Given the description of an element on the screen output the (x, y) to click on. 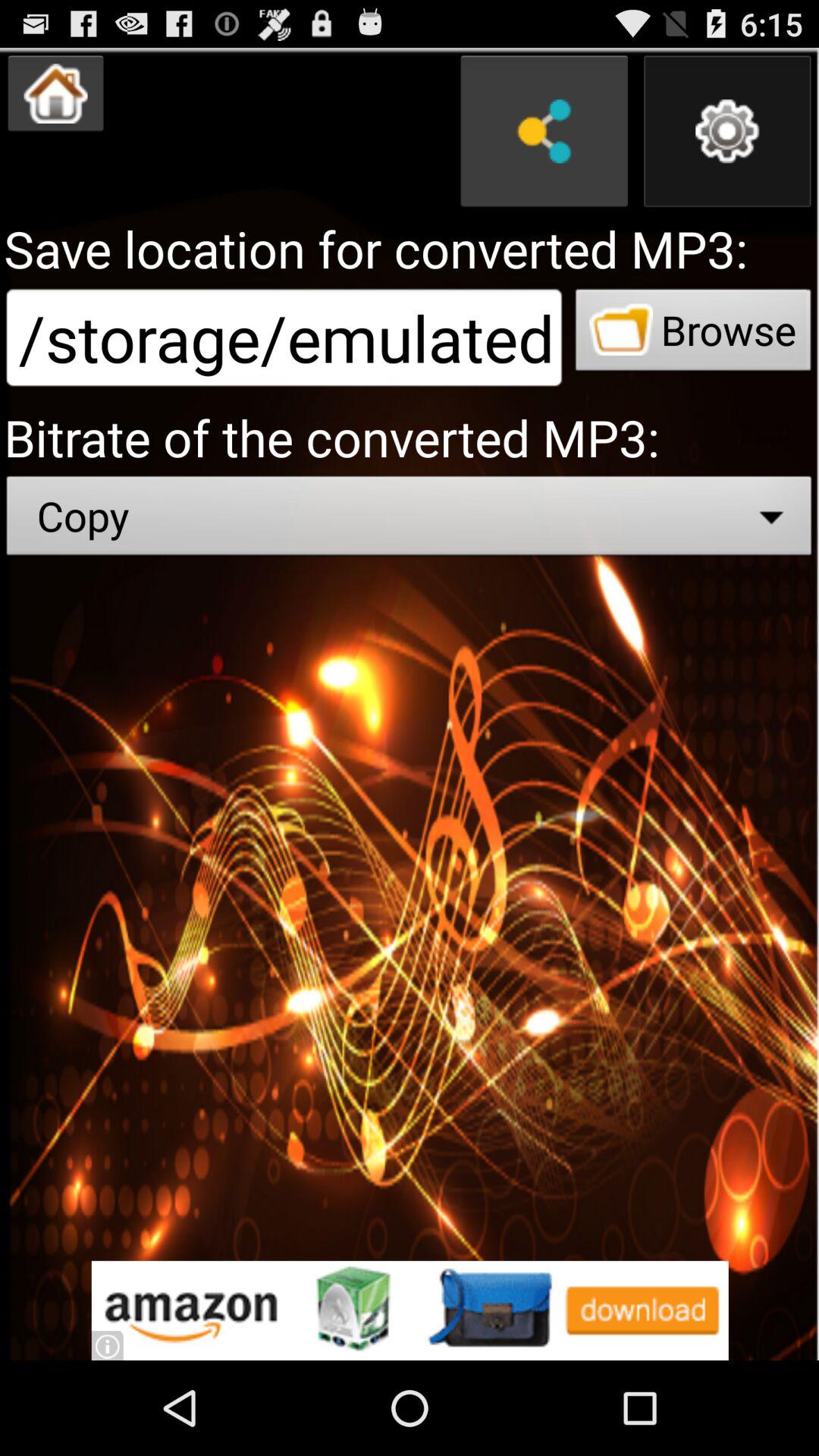
return to home menu (55, 93)
